Given the description of an element on the screen output the (x, y) to click on. 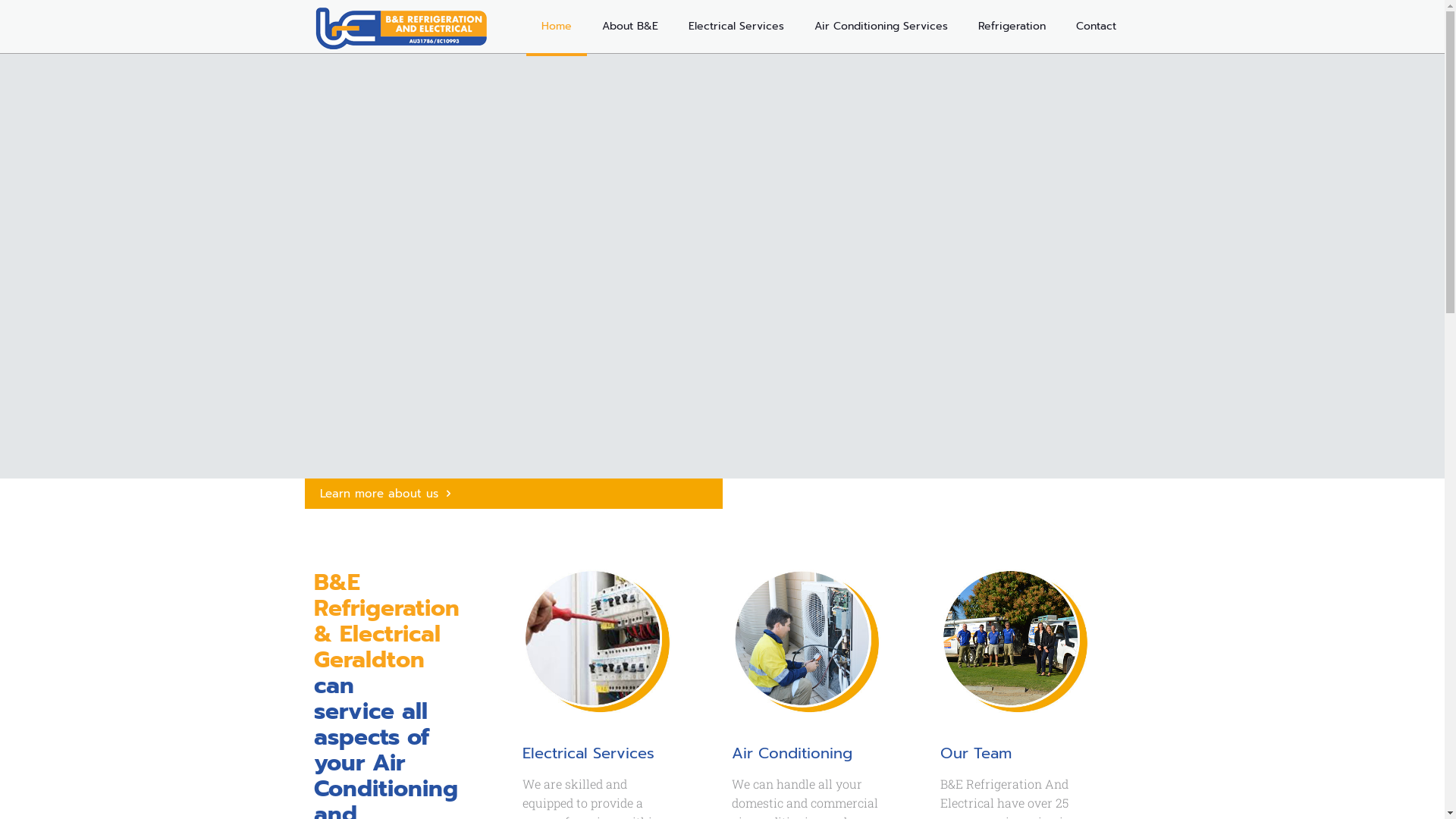
Electrical Services Element type: text (736, 26)
Refrigeration Element type: text (1011, 26)
About B&E Element type: text (629, 26)
Contact Element type: text (1095, 26)
Learn more about us Element type: text (513, 493)
Home Element type: text (556, 26)
B&E Refrigeration & Electrical Element type: hover (400, 26)
Air Conditioning Services Element type: text (881, 26)
